Given the description of an element on the screen output the (x, y) to click on. 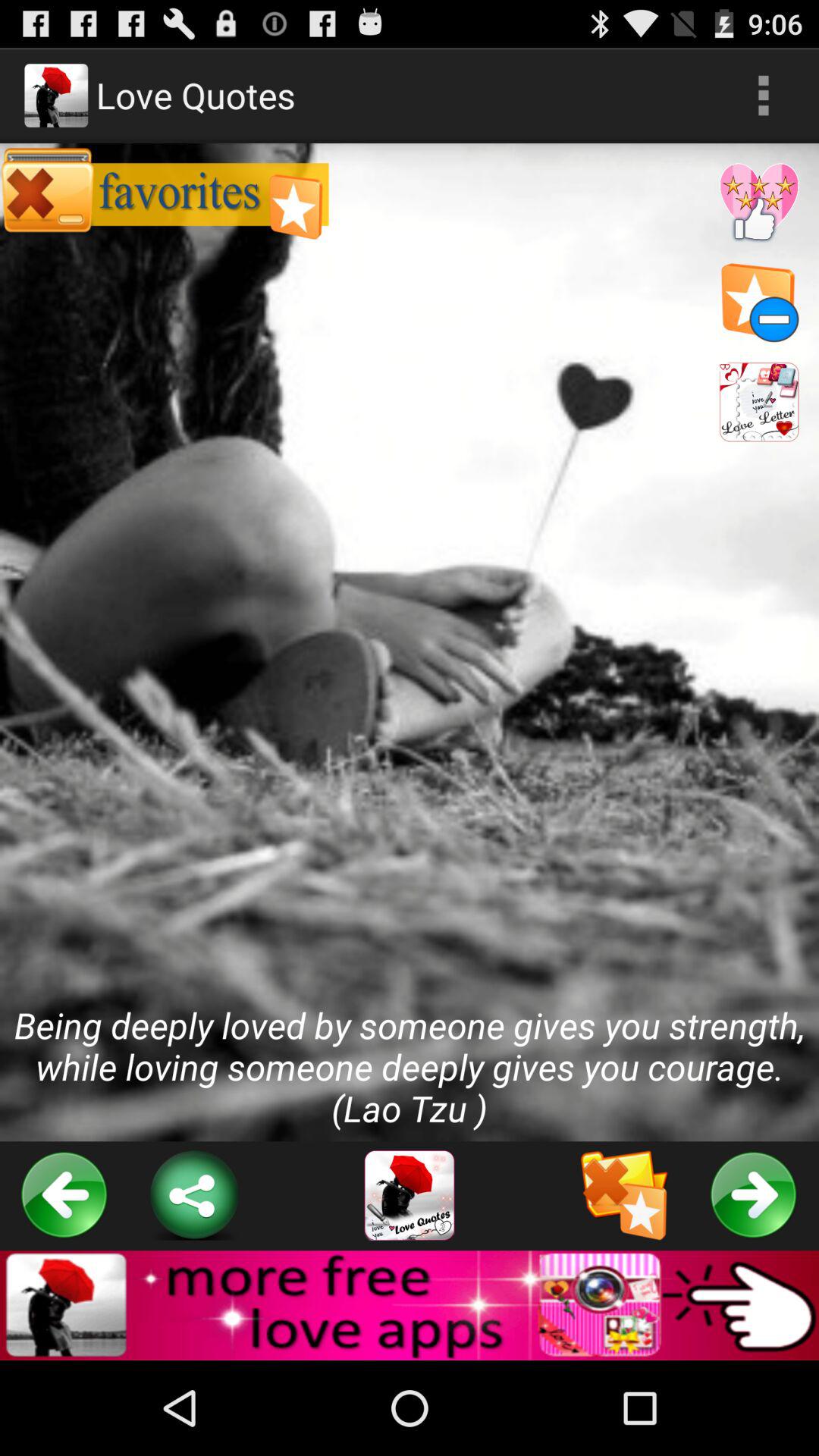
click icon below being deeply loved icon (64, 1195)
